Given the description of an element on the screen output the (x, y) to click on. 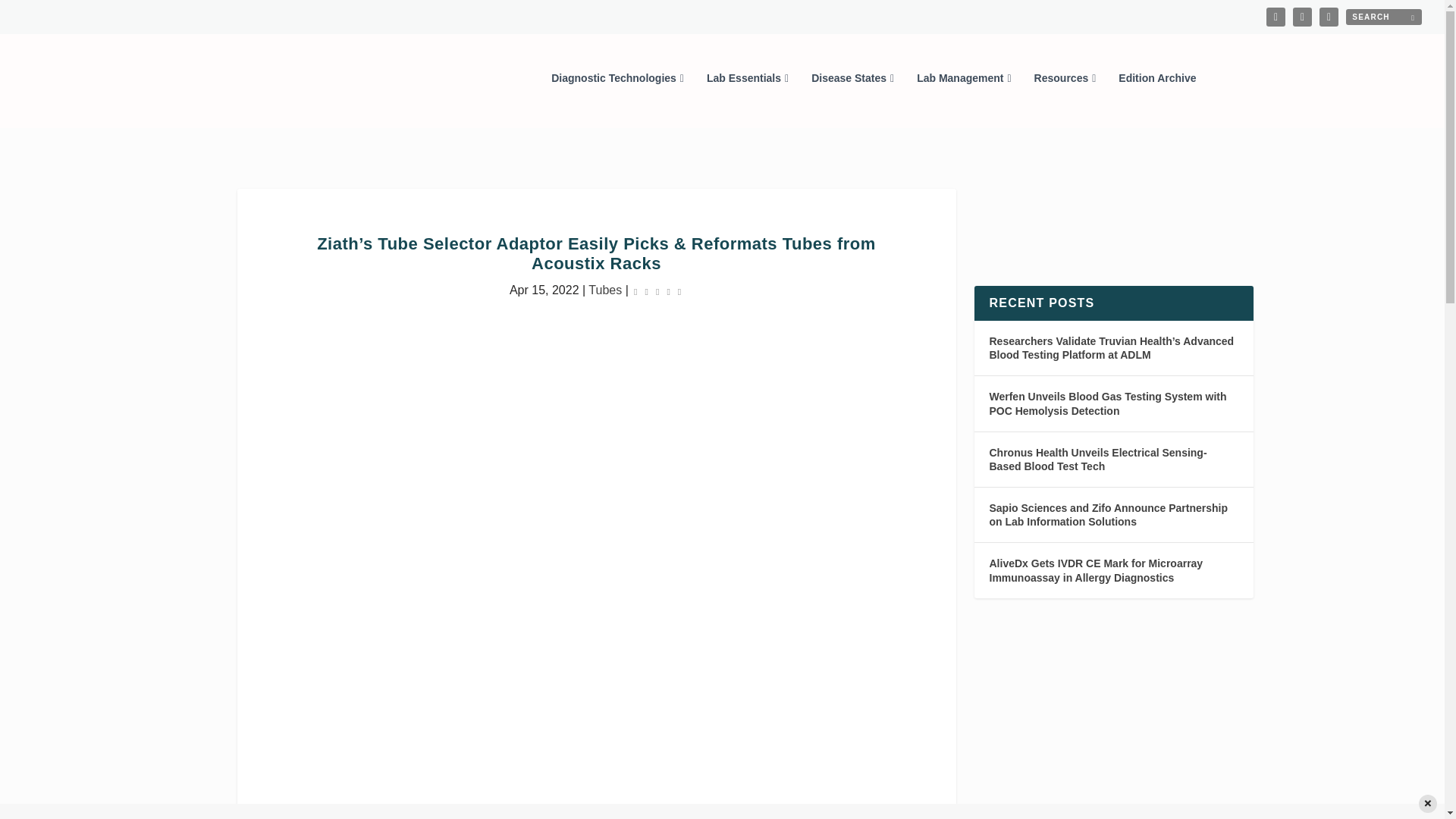
Diagnostic Technologies (617, 99)
Lab Essentials (747, 99)
Lab Management (963, 99)
Disease States (851, 99)
Search for: (1383, 17)
Rating: 0.00 (656, 290)
